Given the description of an element on the screen output the (x, y) to click on. 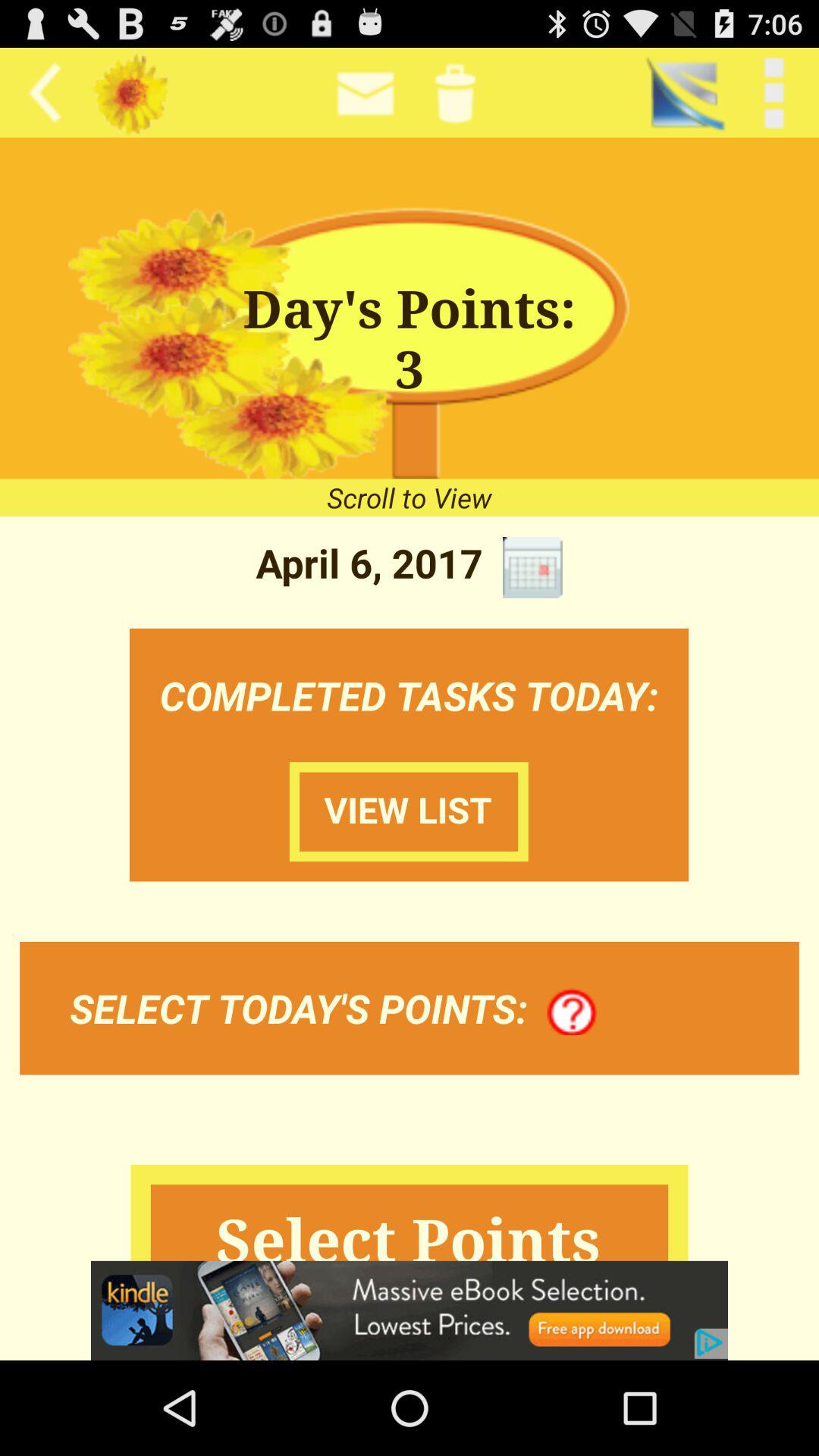
press the icon below completed tasks today: item (408, 811)
